Given the description of an element on the screen output the (x, y) to click on. 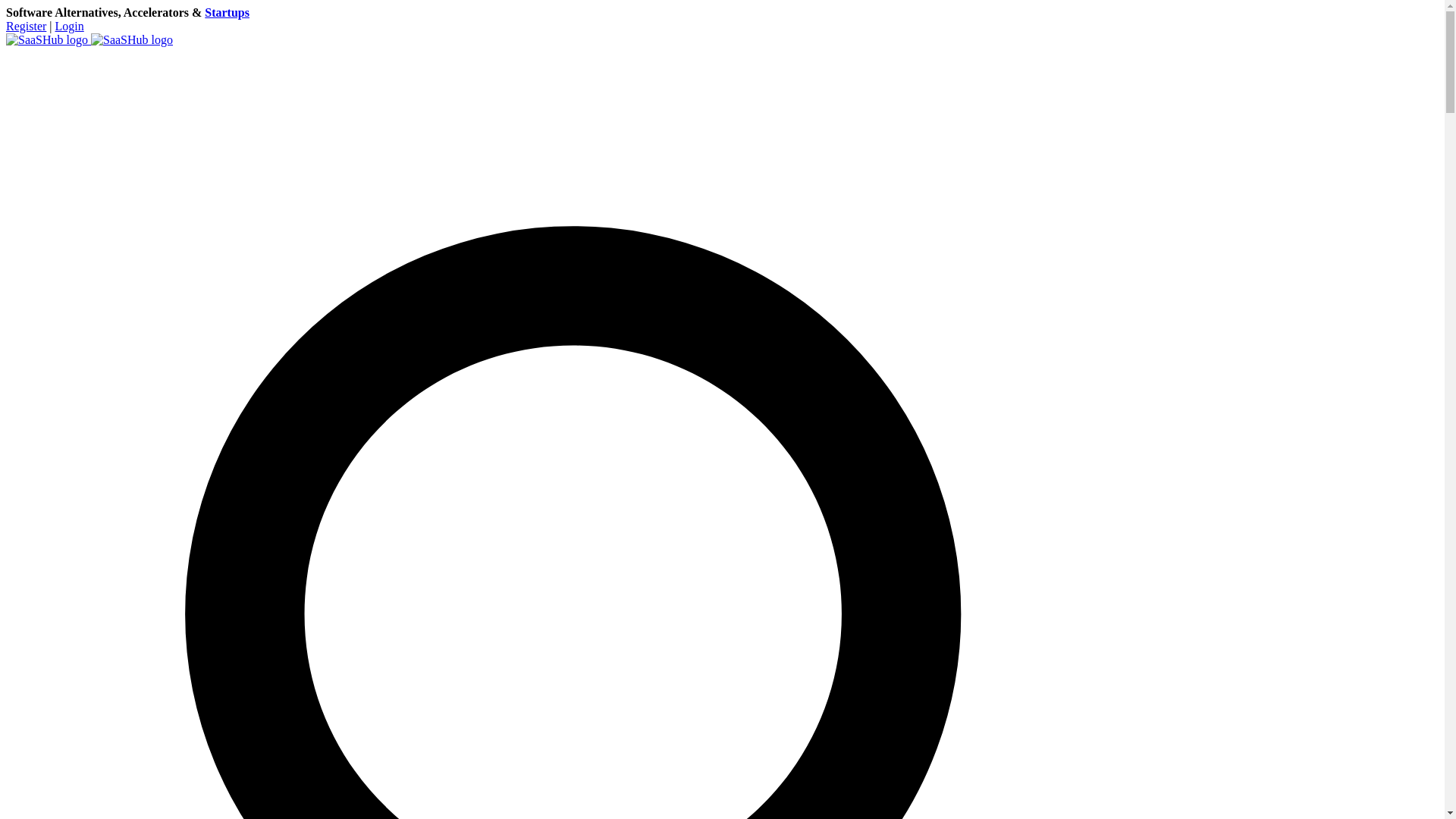
Register (25, 25)
Login (69, 25)
Startups (226, 11)
